Given the description of an element on the screen output the (x, y) to click on. 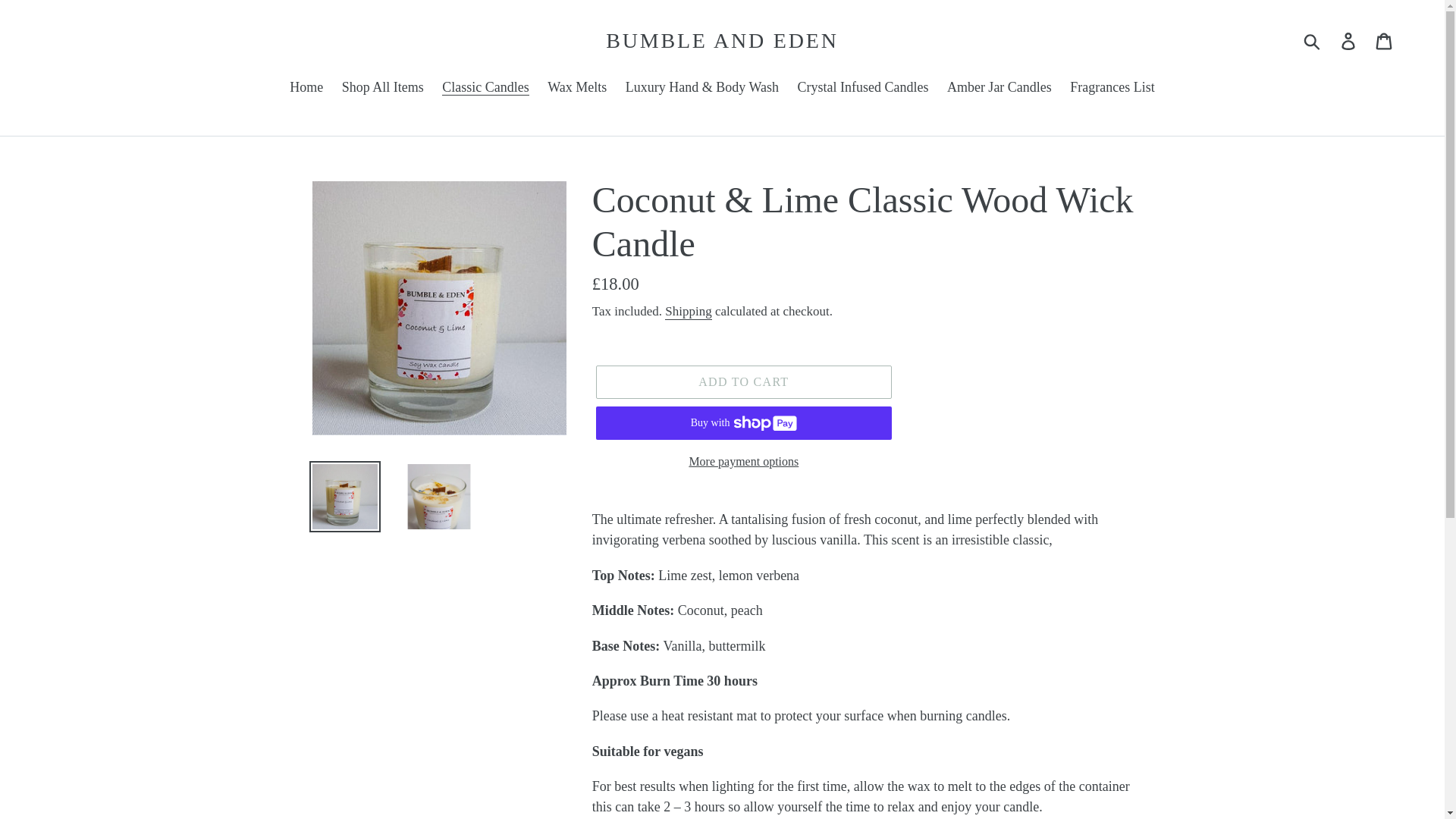
More payment options (743, 461)
Home (306, 87)
BUMBLE AND EDEN (721, 40)
ADD TO CART (743, 381)
Shipping (688, 311)
Wax Melts (577, 87)
Shop All Items (382, 87)
Log in (1349, 40)
Submit (1313, 40)
Fragrances List (1111, 87)
Amber Jar Candles (999, 87)
Cart (1385, 40)
Crystal Infused Candles (862, 87)
Classic Candles (485, 87)
